Given the description of an element on the screen output the (x, y) to click on. 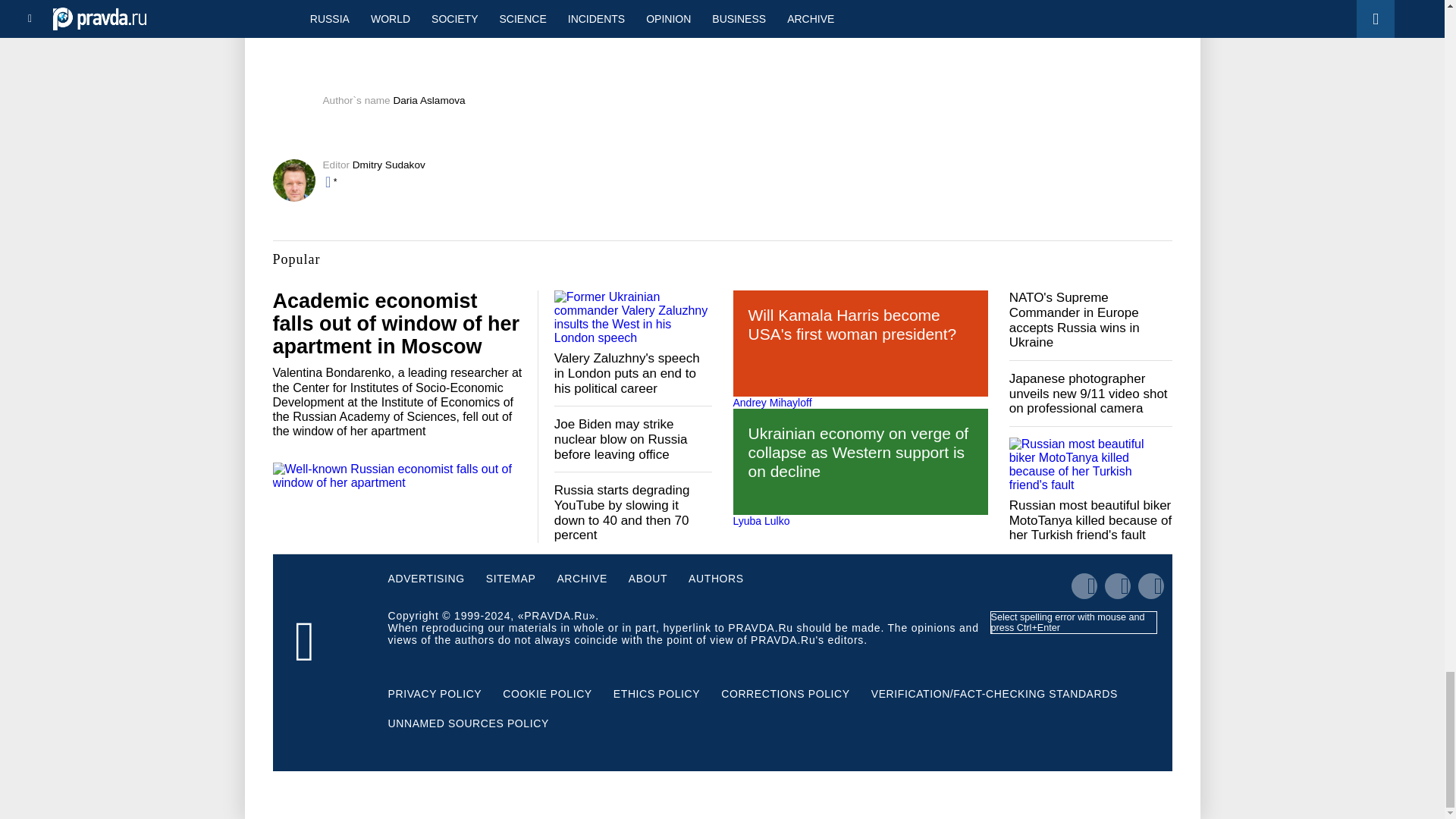
Daria Aslamova (428, 100)
Dmitry Sudakov (388, 164)
